Given the description of an element on the screen output the (x, y) to click on. 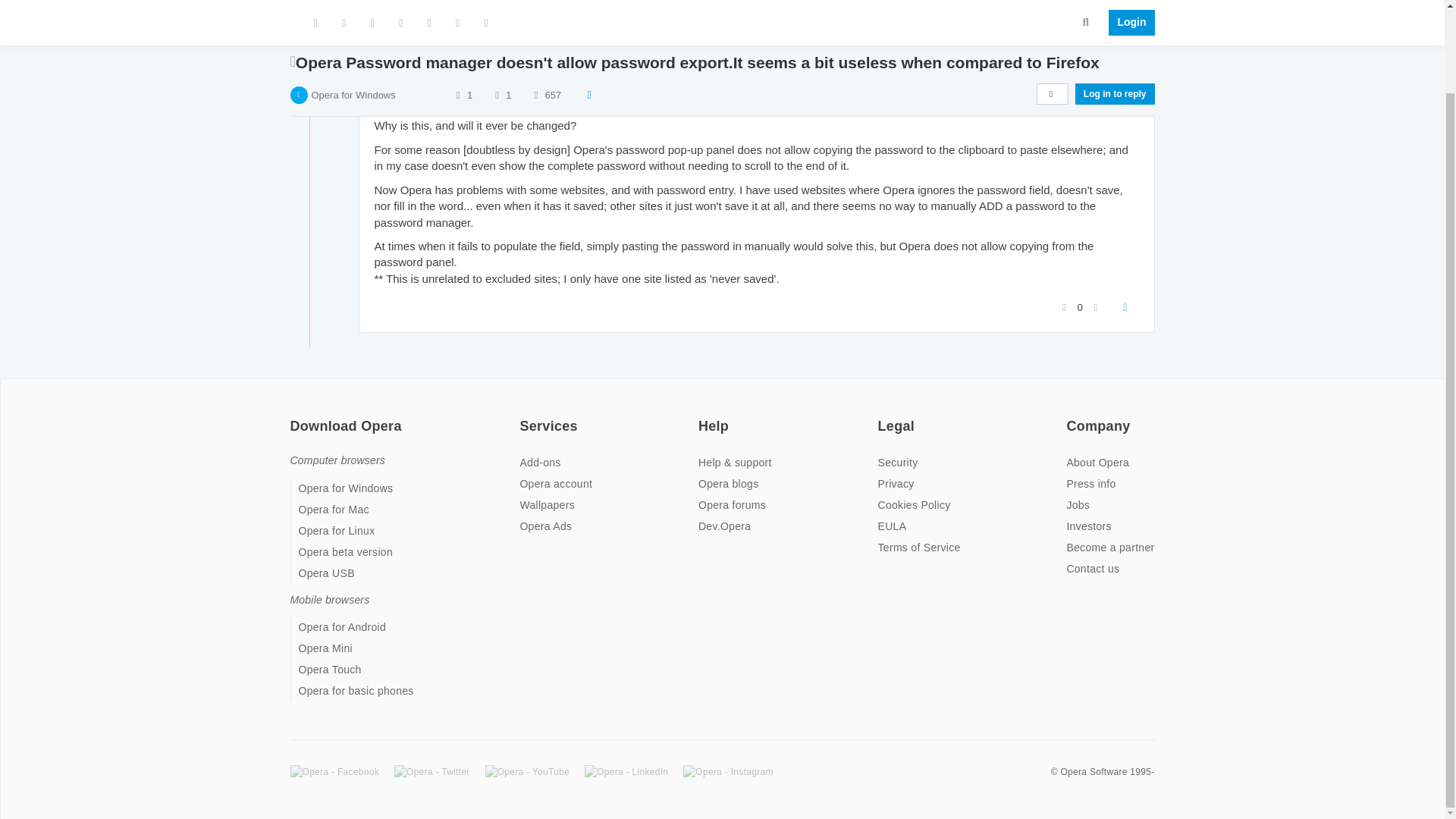
Posts (496, 23)
on (1070, 415)
mechanaught (409, 80)
Computer browsers (337, 460)
on (702, 415)
on (881, 415)
1 (508, 23)
on (523, 415)
Views (535, 23)
on (293, 415)
Log in to reply (1114, 22)
Posters (457, 23)
1 (469, 23)
Opera for Windows (352, 23)
657 (553, 23)
